Given the description of an element on the screen output the (x, y) to click on. 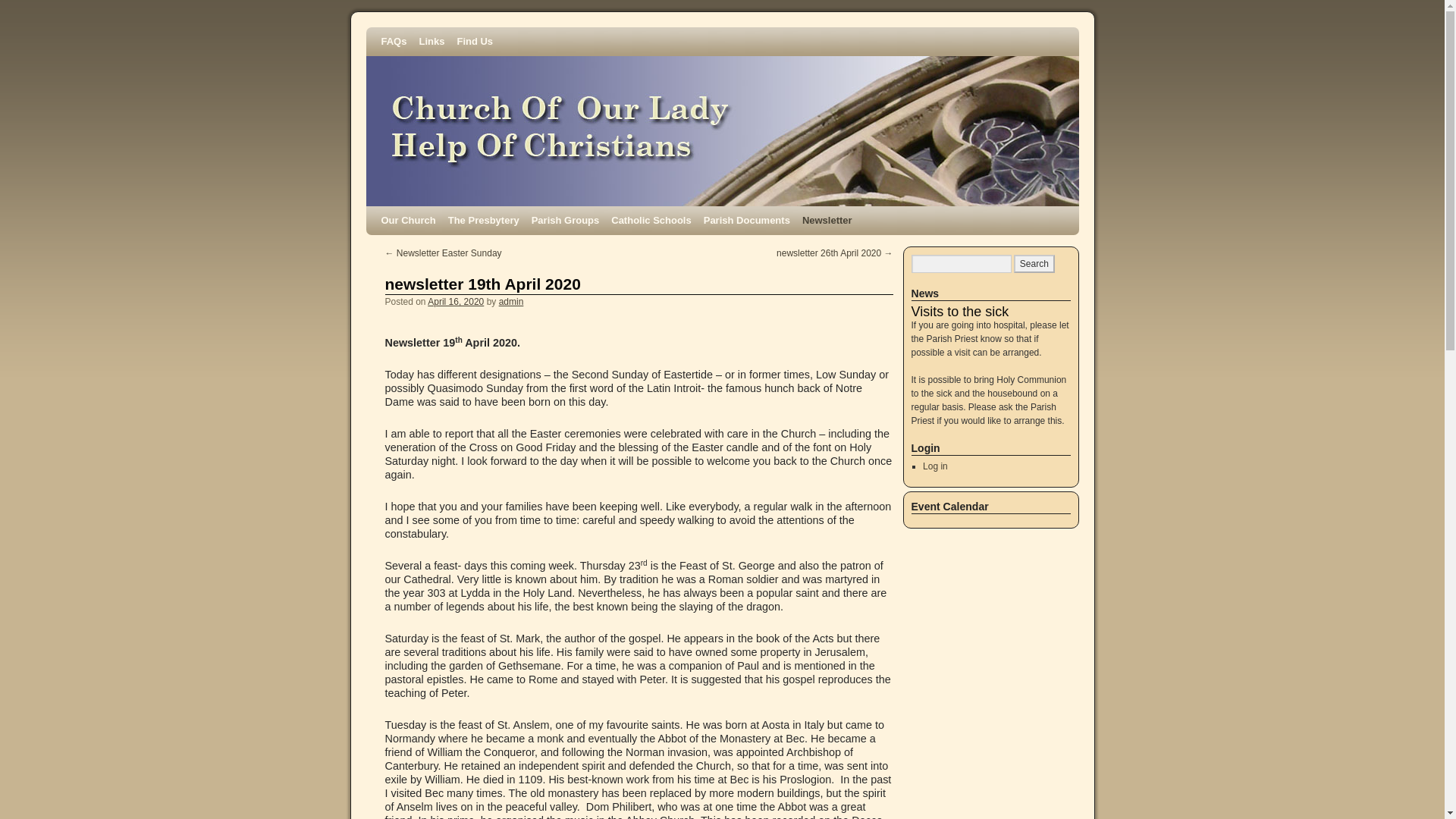
Permalink to newsletter 19th April 2020 (482, 283)
Search (1033, 263)
Newsletter (827, 220)
admin (511, 301)
Parish Groups (565, 220)
Search (1033, 263)
Catholic Schools (651, 220)
The Presbytery (483, 220)
View all posts by admin (511, 301)
April 16, 2020 (455, 301)
FAQs (393, 41)
Log in (935, 466)
Our Church (407, 220)
Find Us (474, 41)
Parish Documents (746, 220)
